Given the description of an element on the screen output the (x, y) to click on. 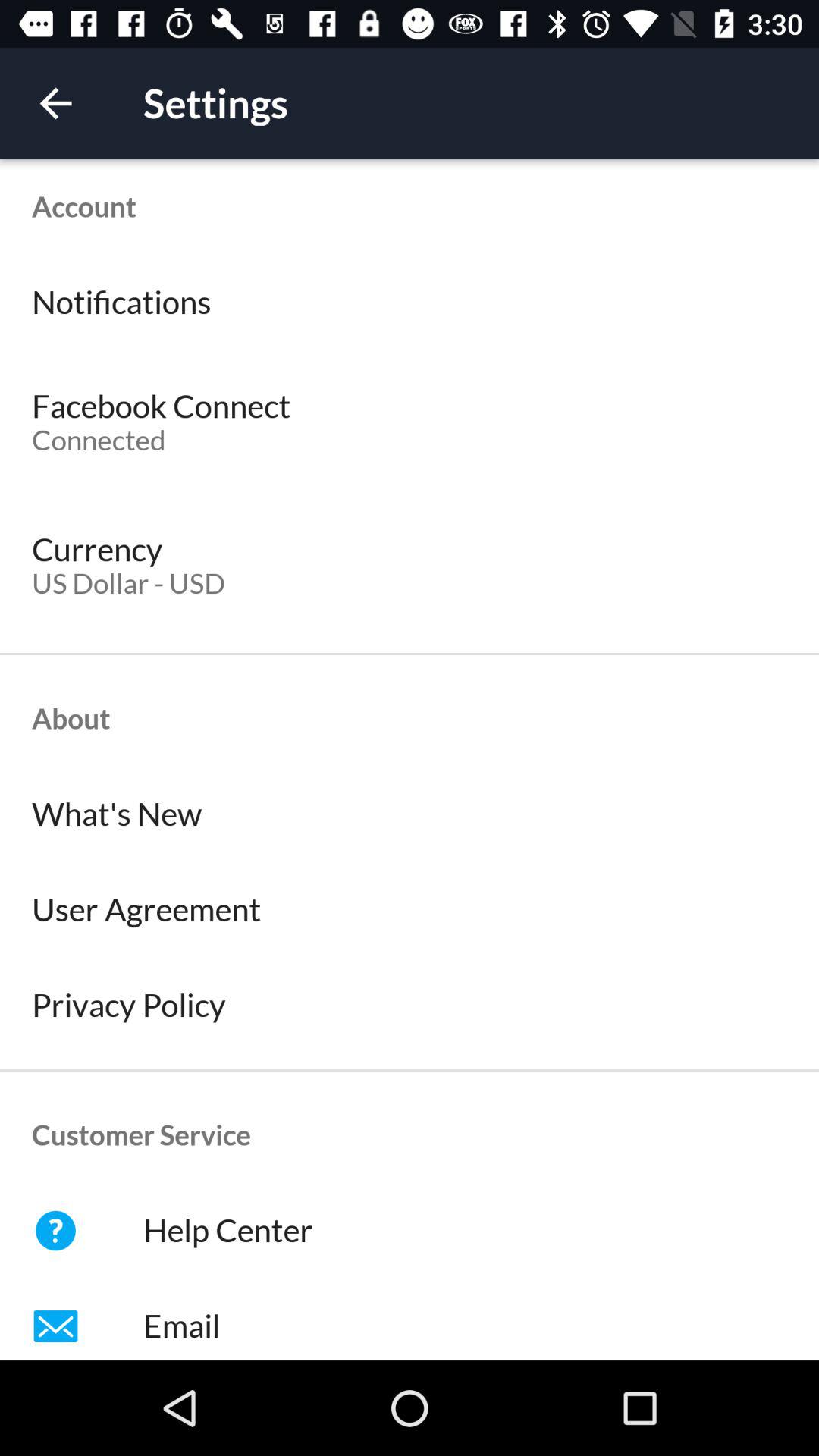
tap item below about item (409, 814)
